Given the description of an element on the screen output the (x, y) to click on. 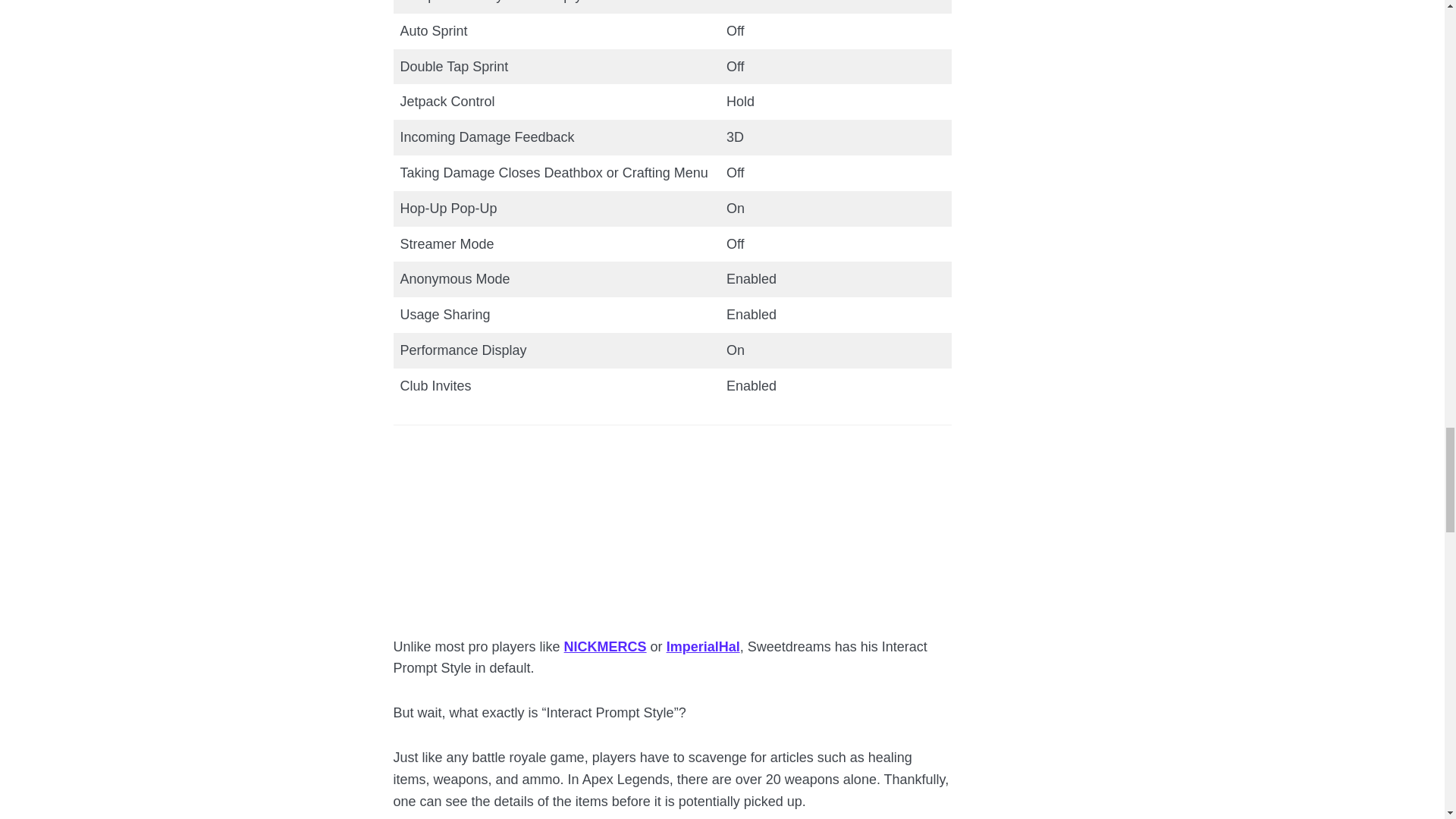
ImperialHal (702, 646)
NICKMERCS (605, 646)
